Given the description of an element on the screen output the (x, y) to click on. 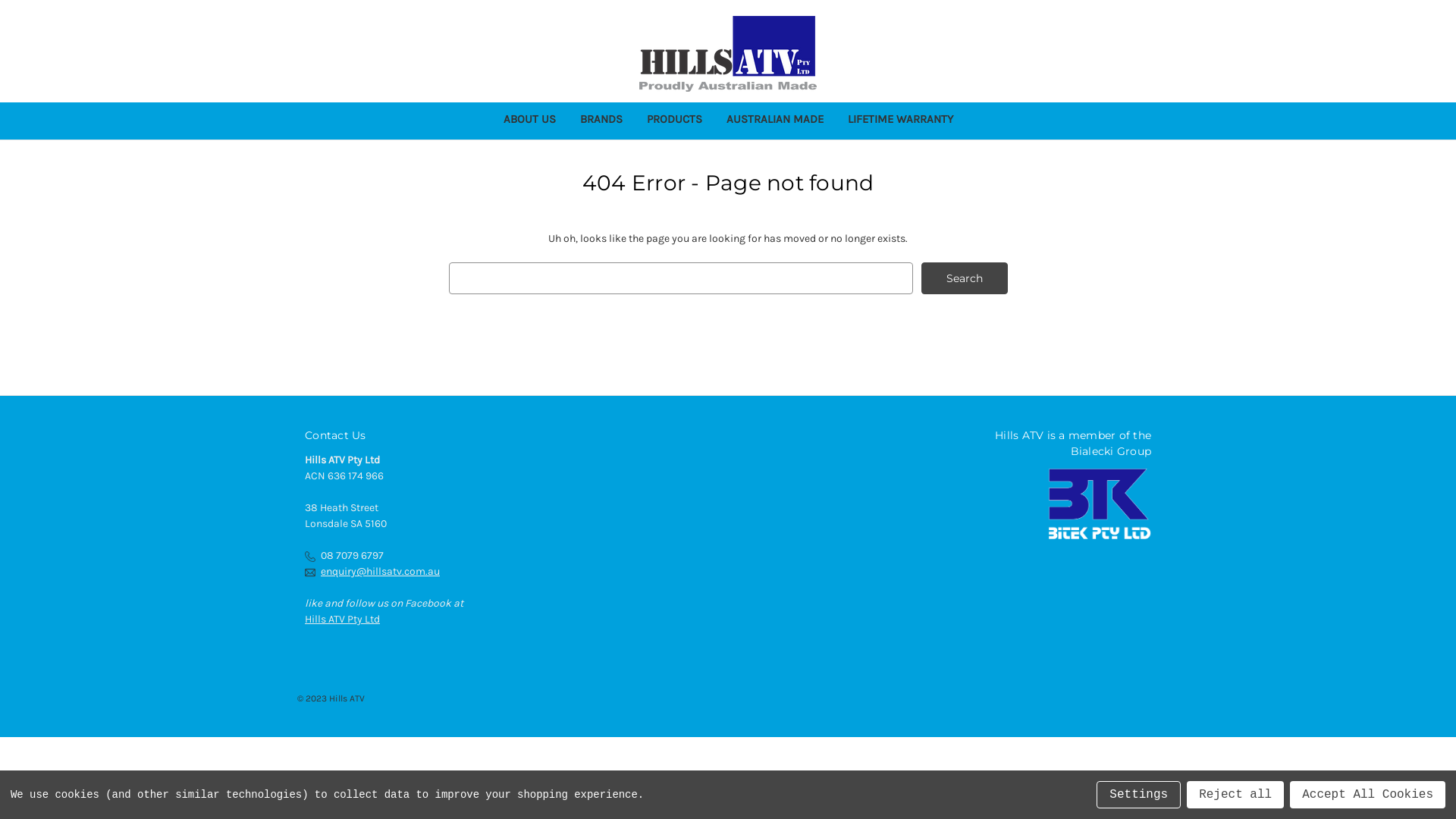
Hills ATV Element type: hover (727, 53)
AUSTRALIAN MADE Element type: text (774, 120)
Hills ATV Pty Ltd Element type: text (341, 618)
PRODUCTS Element type: text (673, 120)
LIFETIME WARRANTY Element type: text (900, 120)
ABOUT US Element type: text (529, 120)
BRANDS Element type: text (600, 120)
Search Element type: text (964, 278)
Reject all Element type: text (1234, 794)
enquiry@hillsatv.com.au Element type: text (379, 570)
Accept All Cookies Element type: text (1367, 794)
Settings Element type: text (1138, 794)
